Given the description of an element on the screen output the (x, y) to click on. 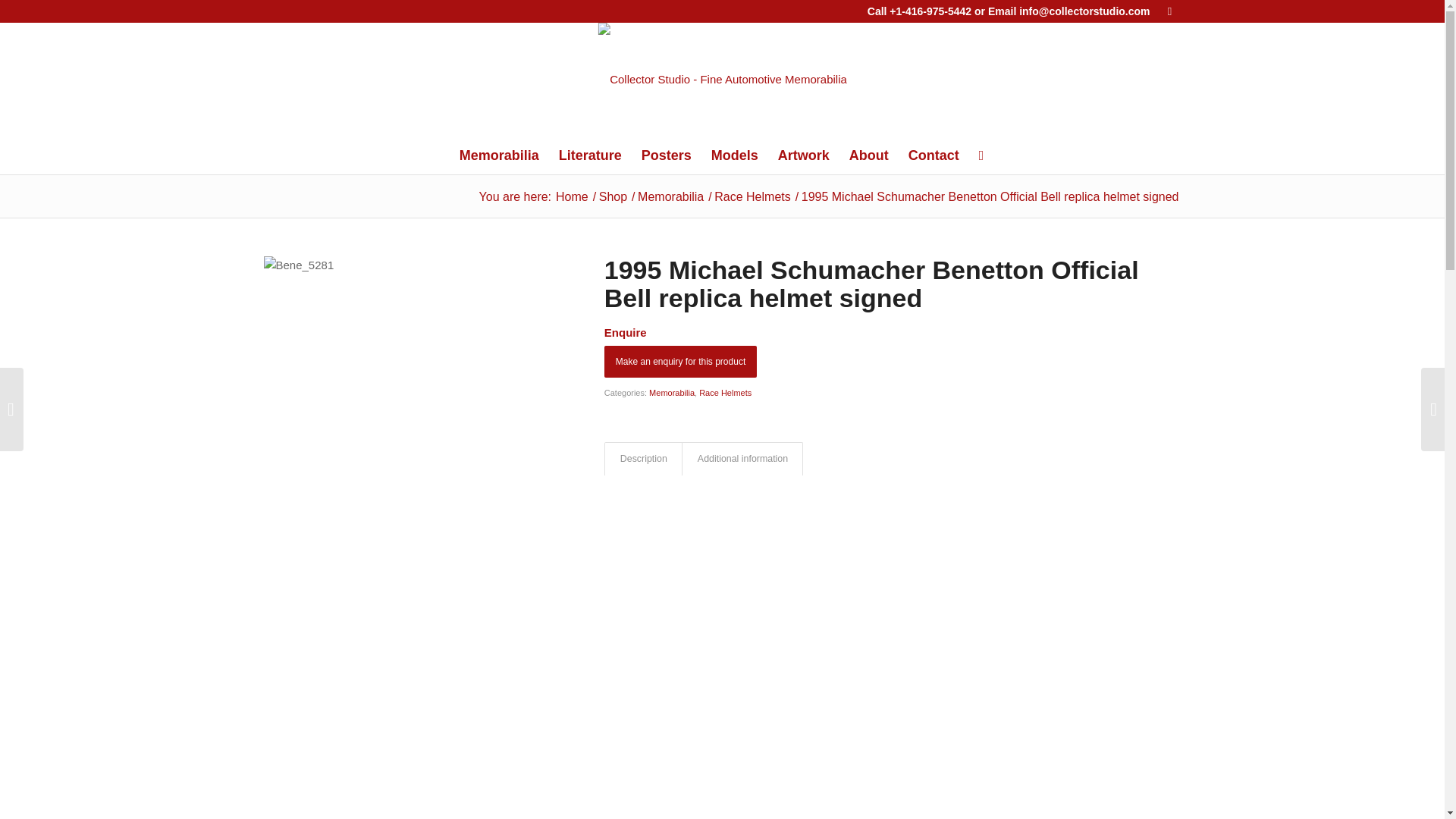
Collector Studio - Fine Automotive Memorabilia (572, 196)
Memorabilia (498, 155)
Shop (612, 196)
Make an enquiry for this product (680, 361)
Instagram (1169, 11)
95schu (414, 790)
Memorabilia (670, 196)
Models (734, 155)
Posters (666, 155)
Literature (589, 155)
Race Helmets (751, 196)
